Given the description of an element on the screen output the (x, y) to click on. 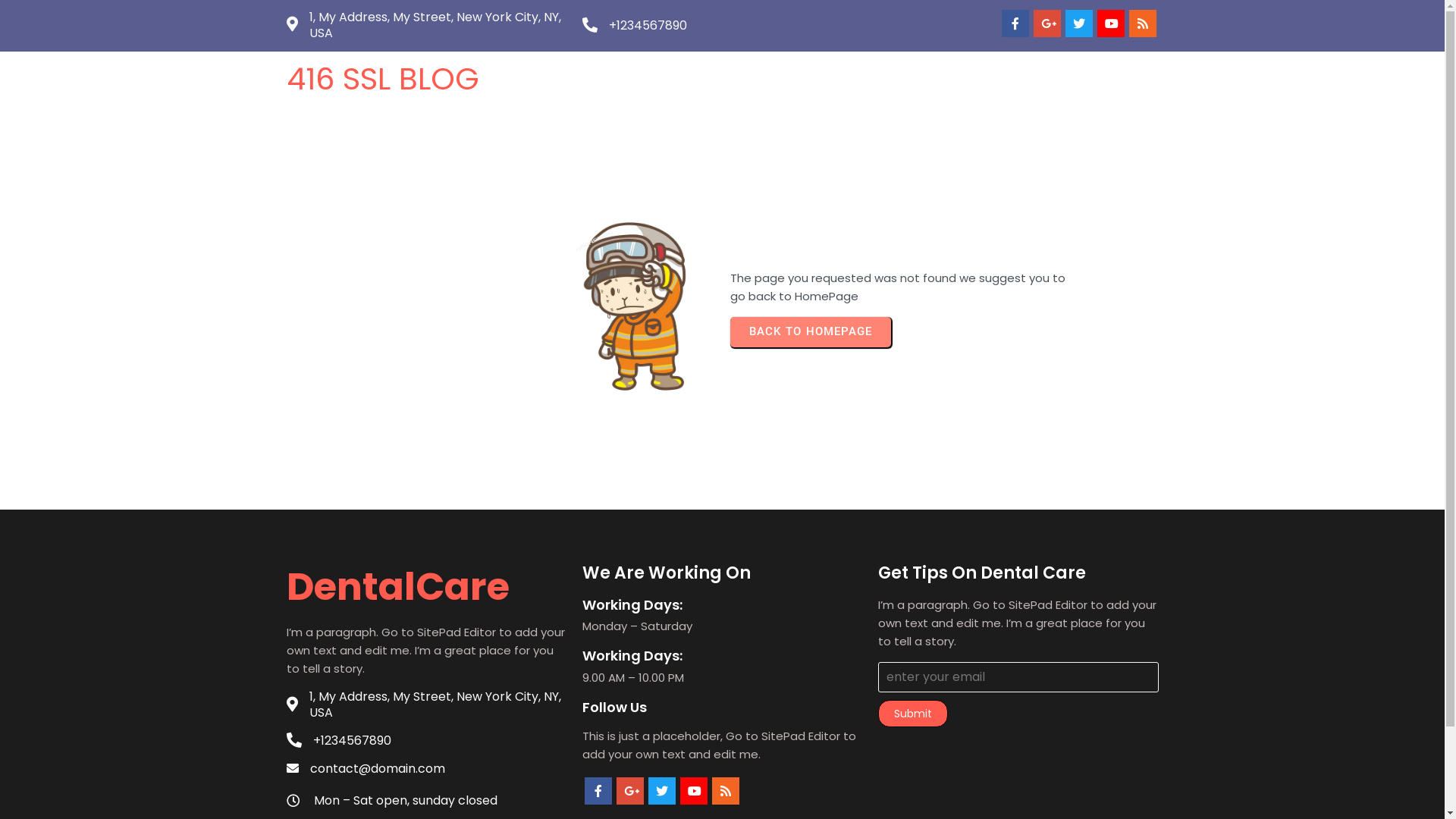
Submit Element type: text (912, 713)
416 SSL BLOG Element type: text (411, 78)
BACK TO HOMEPAGE Element type: text (809, 331)
